Given the description of an element on the screen output the (x, y) to click on. 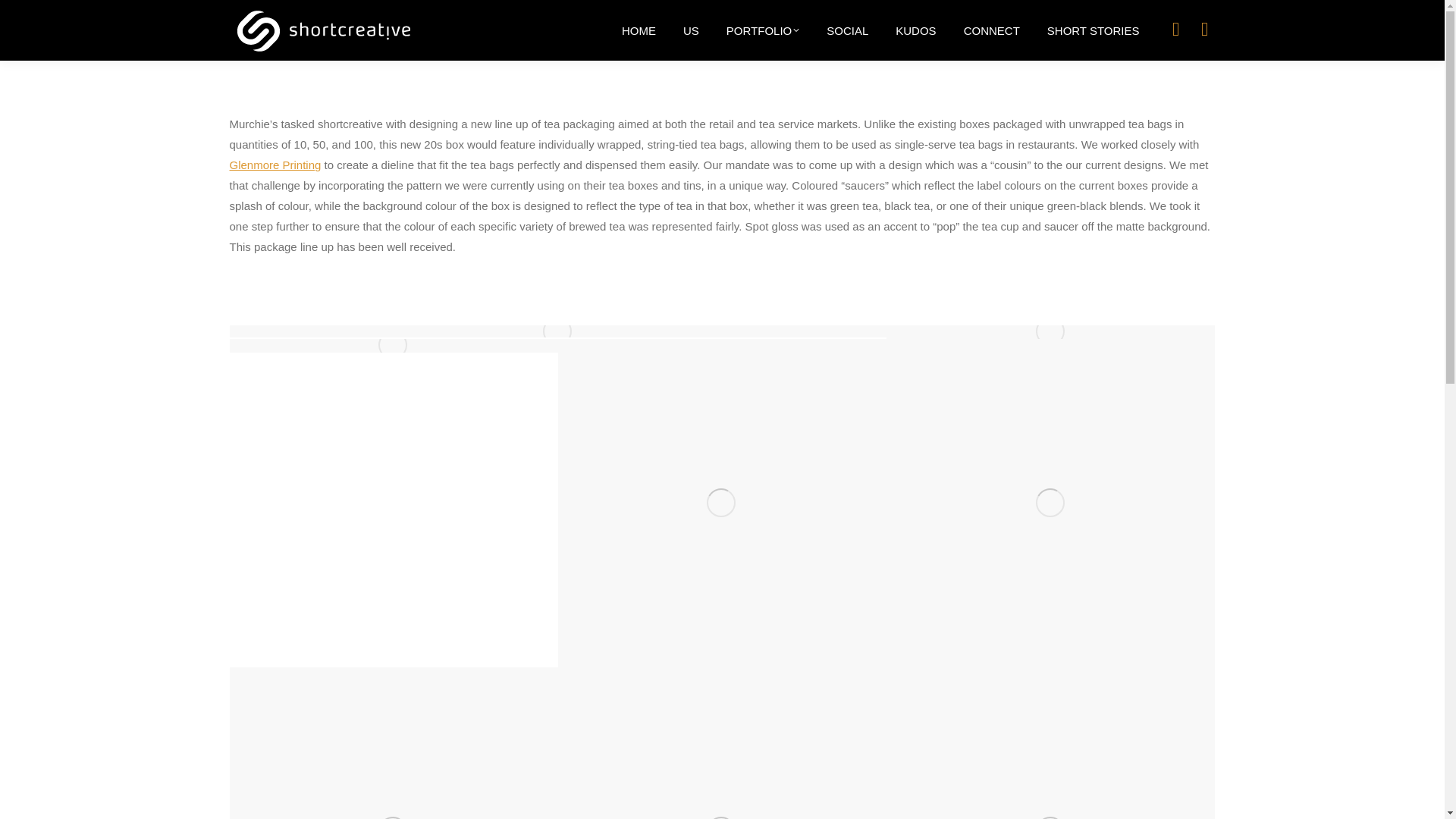
PORTFOLIO (762, 29)
CONNECT (991, 29)
Instagram page opens in new window (1175, 29)
KUDOS (915, 29)
HOME (638, 29)
Facebook page opens in new window (1203, 29)
Instagram page opens in new window (1175, 29)
Facebook page opens in new window (1203, 29)
SOCIAL (847, 29)
SHORT STORIES (1092, 29)
